Given the description of an element on the screen output the (x, y) to click on. 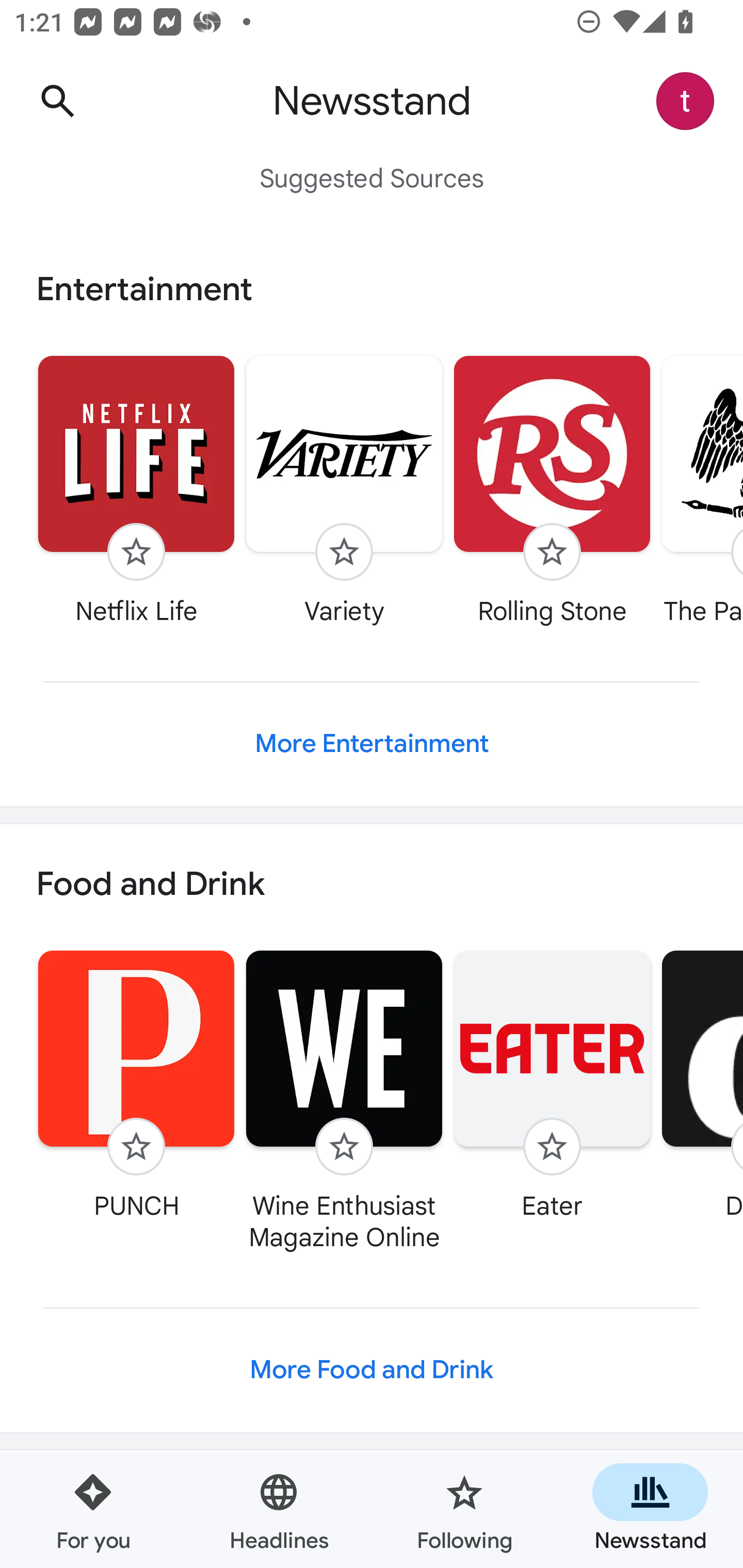
Search (57, 100)
Entertainment (371, 288)
Follow Netflix Life (136, 489)
Follow Variety (344, 489)
Follow Rolling Stone (552, 489)
Follow (135, 551)
Follow (343, 551)
Follow (552, 551)
More Entertainment (371, 743)
Food and Drink (371, 884)
Follow PUNCH (136, 1084)
Follow Wine Enthusiast Magazine Online (344, 1100)
Follow Eater (552, 1084)
Follow (135, 1146)
Follow (343, 1146)
Follow (552, 1146)
More Food and Drink (371, 1369)
Health and Fitness (371, 1509)
For you (92, 1509)
Headlines (278, 1509)
Following (464, 1509)
Newsstand (650, 1509)
